Given the description of an element on the screen output the (x, y) to click on. 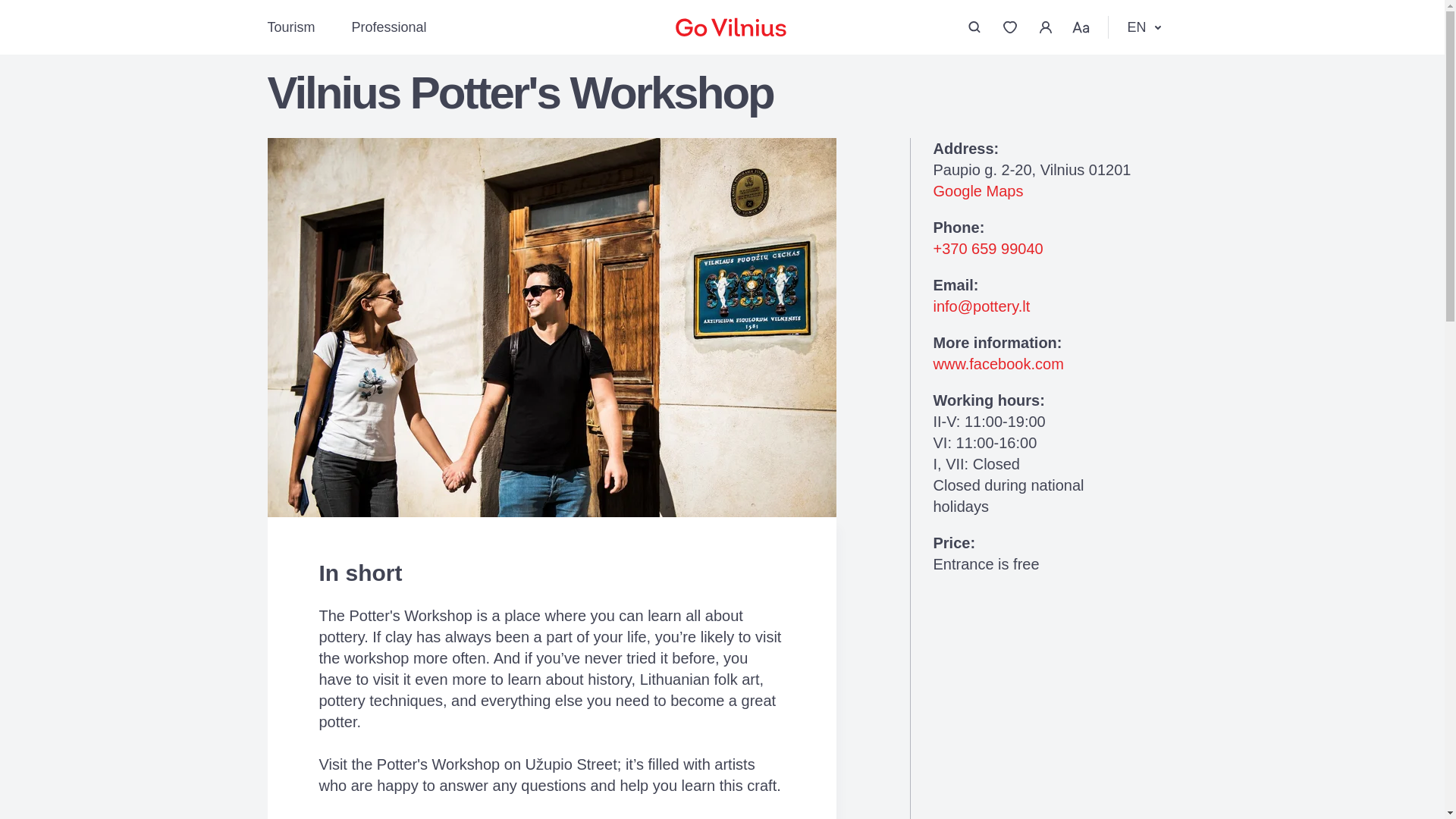
Professional (389, 26)
Tourism (290, 26)
